Given the description of an element on the screen output the (x, y) to click on. 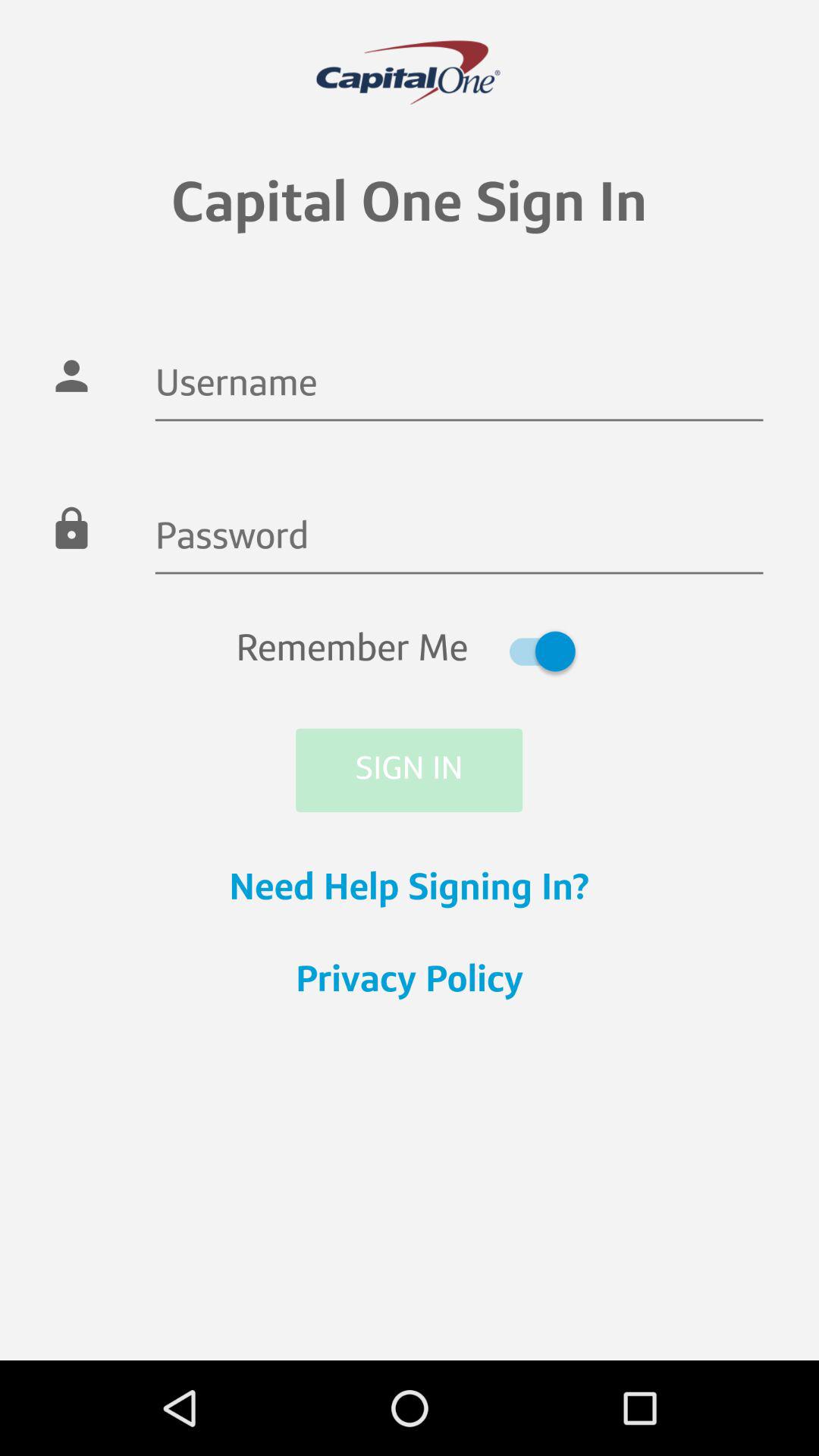
launch the icon below sign in icon (409, 889)
